Given the description of an element on the screen output the (x, y) to click on. 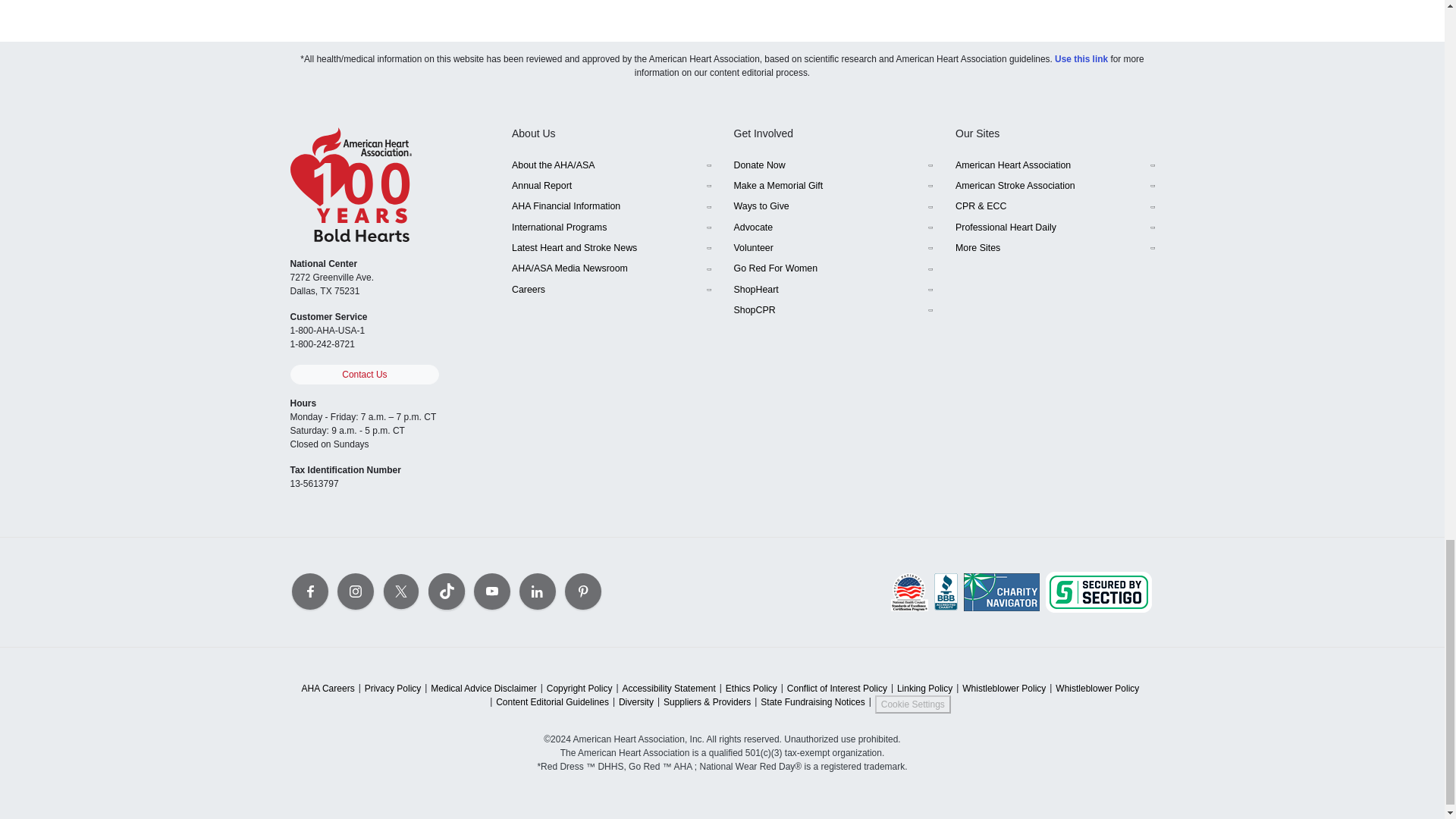
Volunteer (833, 248)
Annual Report (611, 186)
ShopCPR (833, 310)
American Stroke Association (1054, 186)
Ways to Give (833, 206)
ShopHeart (833, 289)
American Heart Association (1054, 164)
Latest Heart and Stroke News (611, 248)
Advocate (833, 227)
AHA Financial Information (611, 206)
International Programs (611, 227)
Careers (611, 289)
Go Red For Women (833, 268)
Make a Memorial Gift (833, 186)
Donate Now (833, 164)
